Given the description of an element on the screen output the (x, y) to click on. 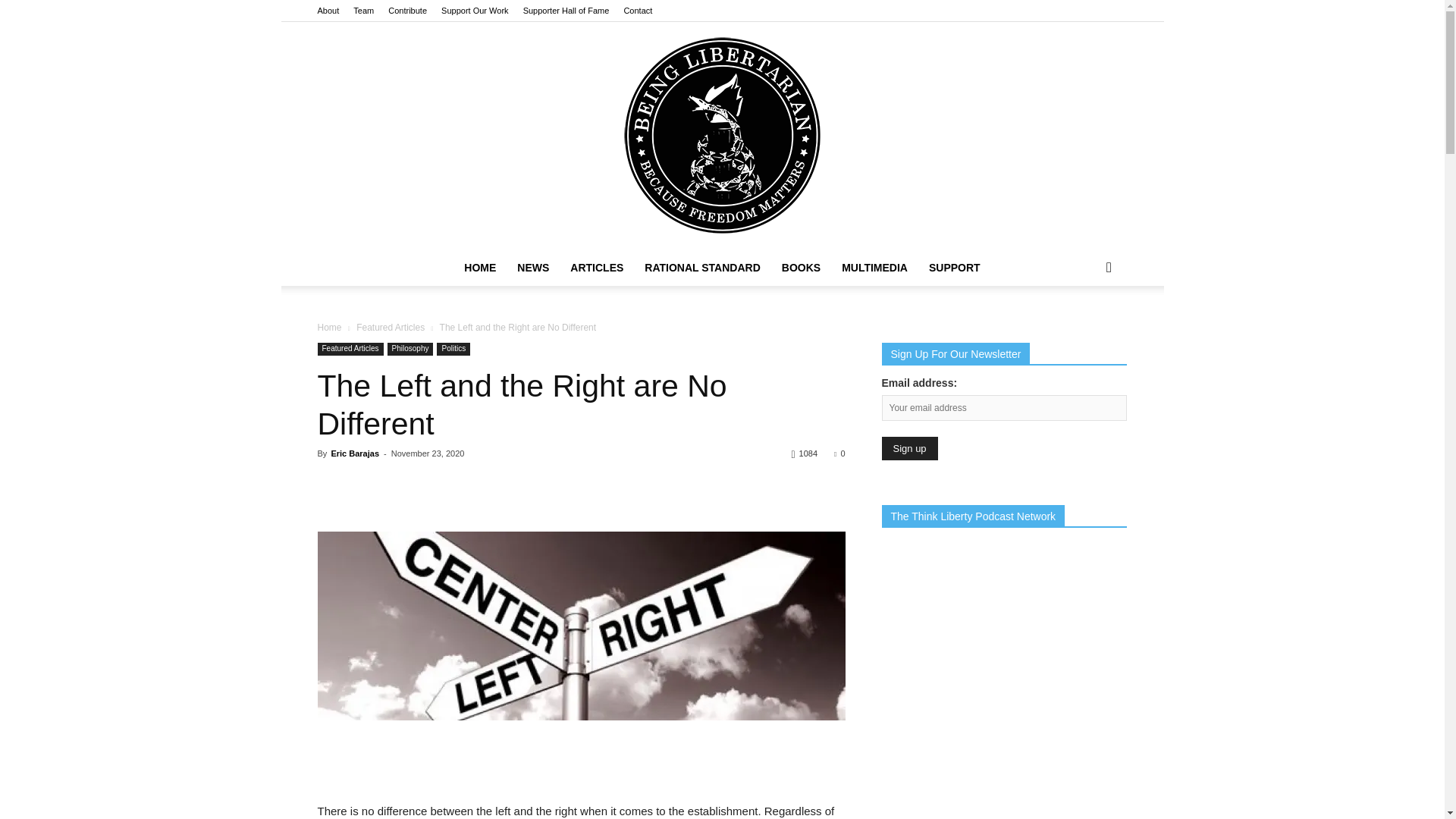
Sign up (908, 448)
Support Our Work (474, 10)
HOME (479, 267)
RATIONAL STANDARD (701, 267)
Advertisement (580, 762)
View all posts in Featured Articles (390, 327)
Contribute (407, 10)
left-right-and-center-1 (580, 625)
Being Libertarian Logo (721, 135)
NEWS (532, 267)
